Given the description of an element on the screen output the (x, y) to click on. 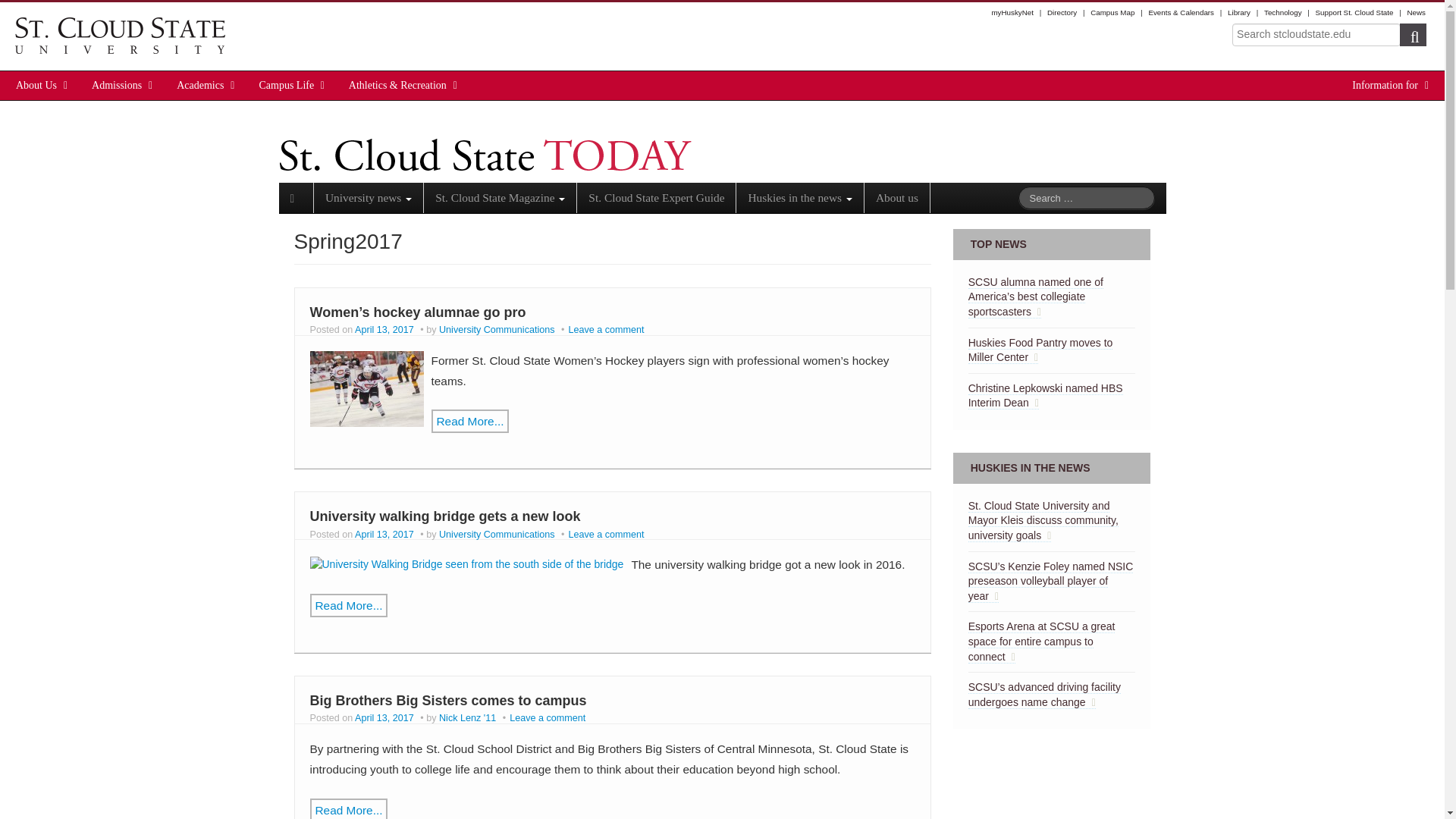
About Us (36, 85)
Academics (199, 85)
Search stcloudstate.edu (1315, 34)
Campus Life (286, 85)
Admissions (116, 85)
View all posts by University Communications (496, 534)
Permalink to University walking bridge gets a new look (443, 516)
Permalink to Big Brothers Big Sisters comes to campus (447, 700)
Permalink to University walking bridge gets a new look (465, 562)
View all posts by University Communications (496, 329)
